Given the description of an element on the screen output the (x, y) to click on. 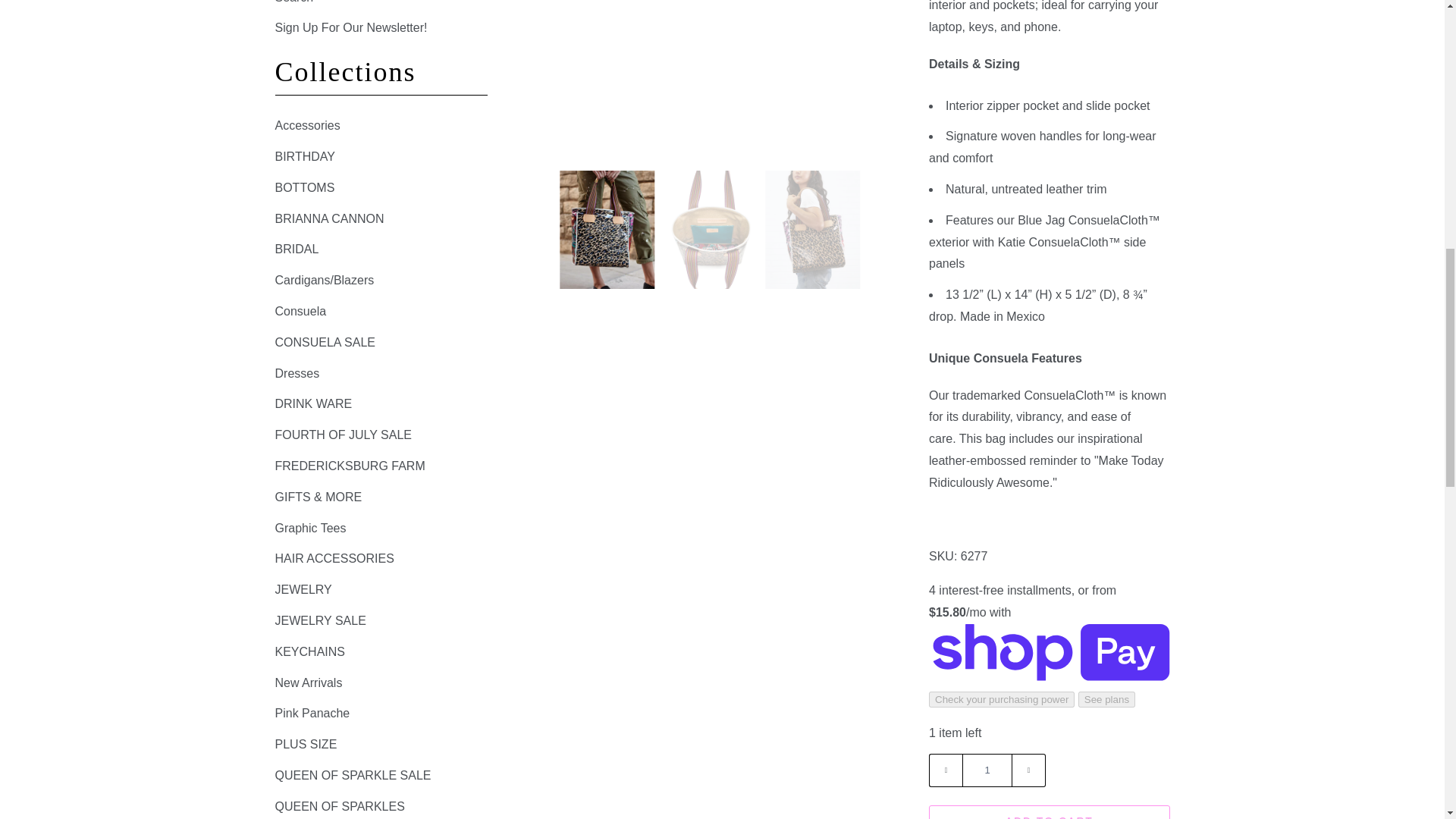
BOTTOMS (304, 187)
BRIDAL (296, 248)
BIRTHDAY (304, 155)
Consuela (300, 310)
FOURTH OF JULY SALE (342, 434)
CONSUELA SALE (325, 341)
Dresses (296, 373)
FREDERICKSBURG FARM (350, 465)
BRIANNA CANNON (329, 218)
HAIR ACCESSORIES (334, 558)
Graphic Tees (310, 527)
1 (986, 770)
Accessories (307, 124)
DRINK WARE (313, 403)
